Given the description of an element on the screen output the (x, y) to click on. 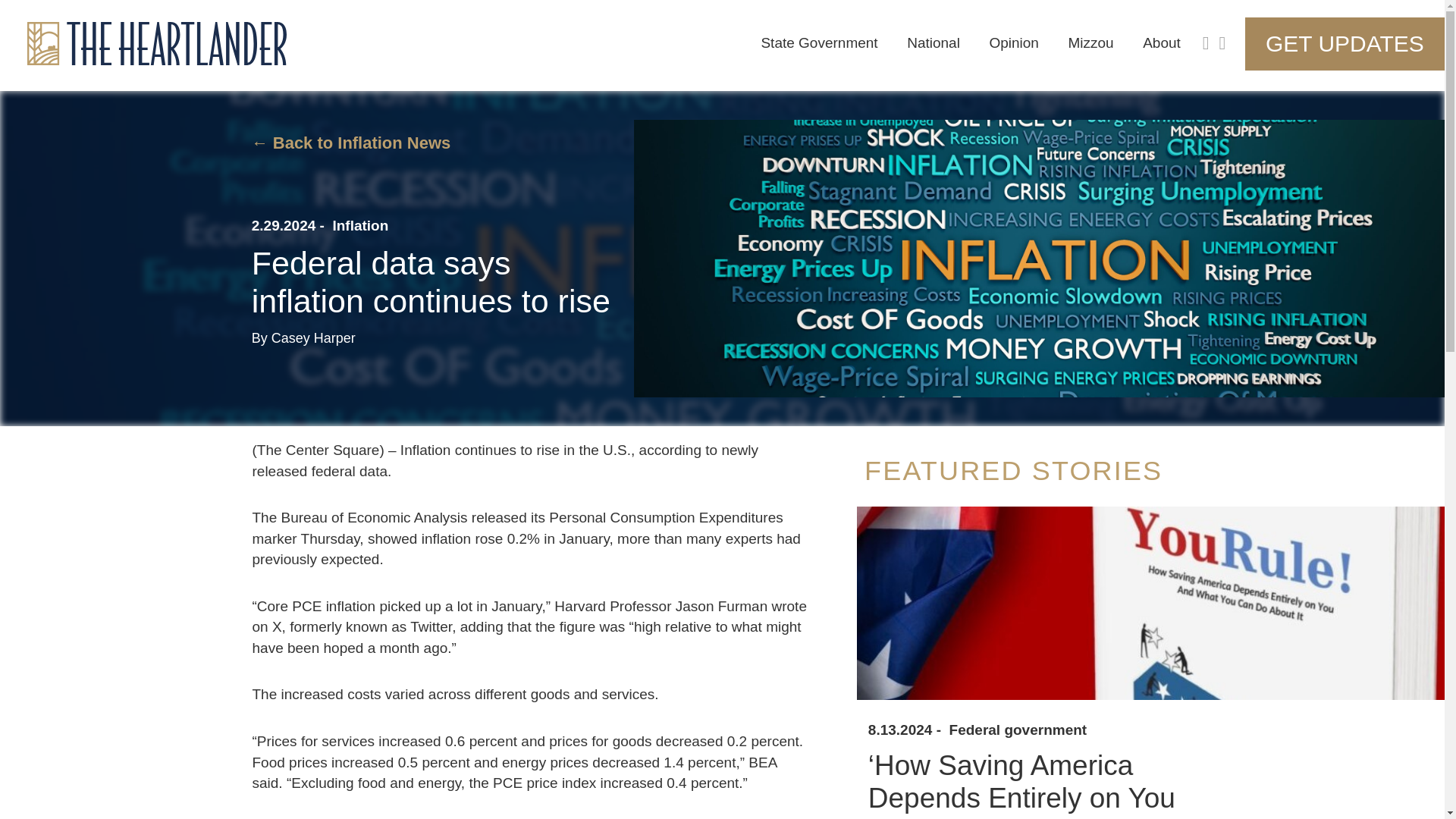
Federal government (1018, 730)
GET UPDATES (1410, 43)
Inflation (359, 226)
